Given the description of an element on the screen output the (x, y) to click on. 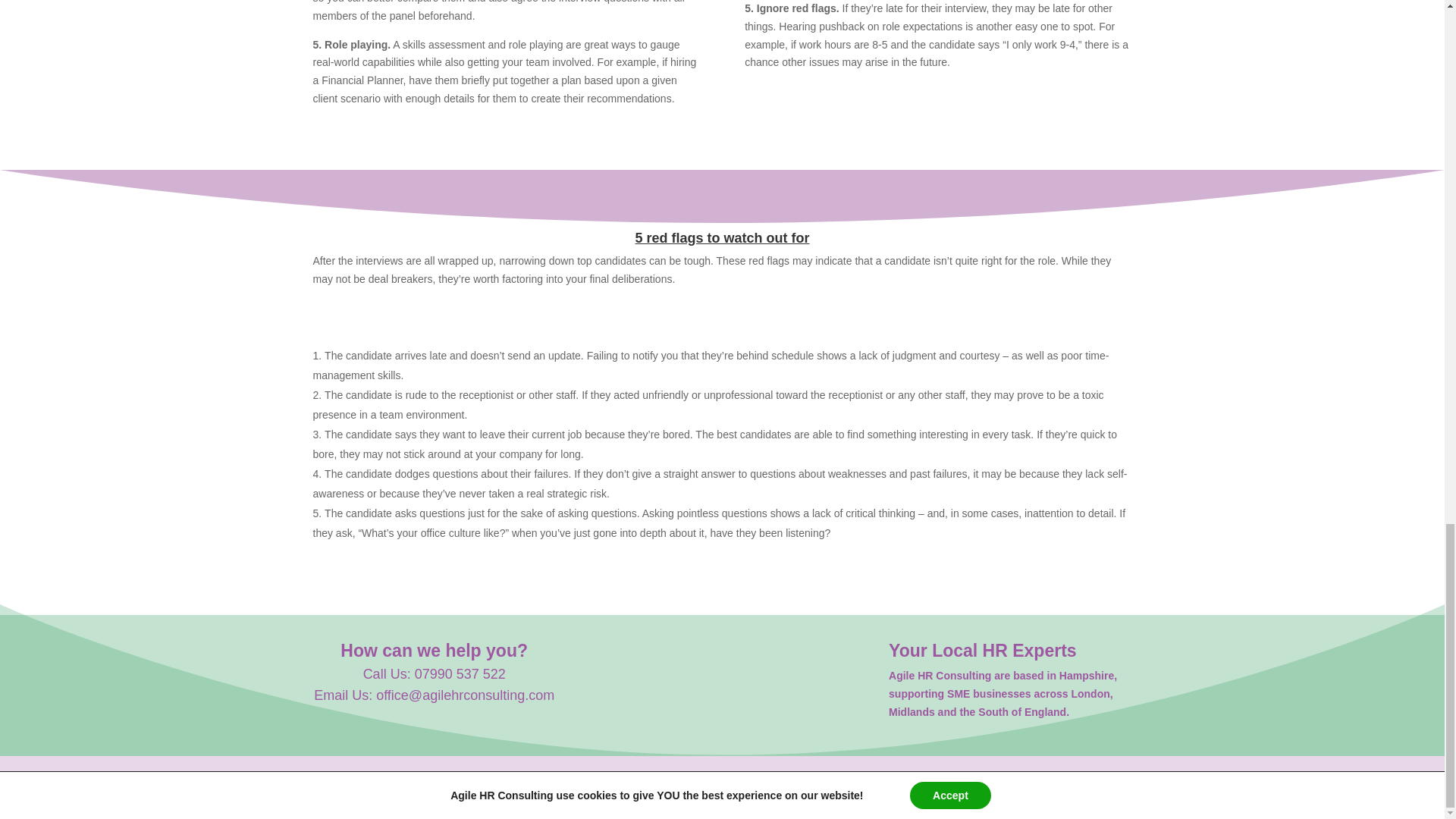
Privacy Policy (776, 788)
